Given the description of an element on the screen output the (x, y) to click on. 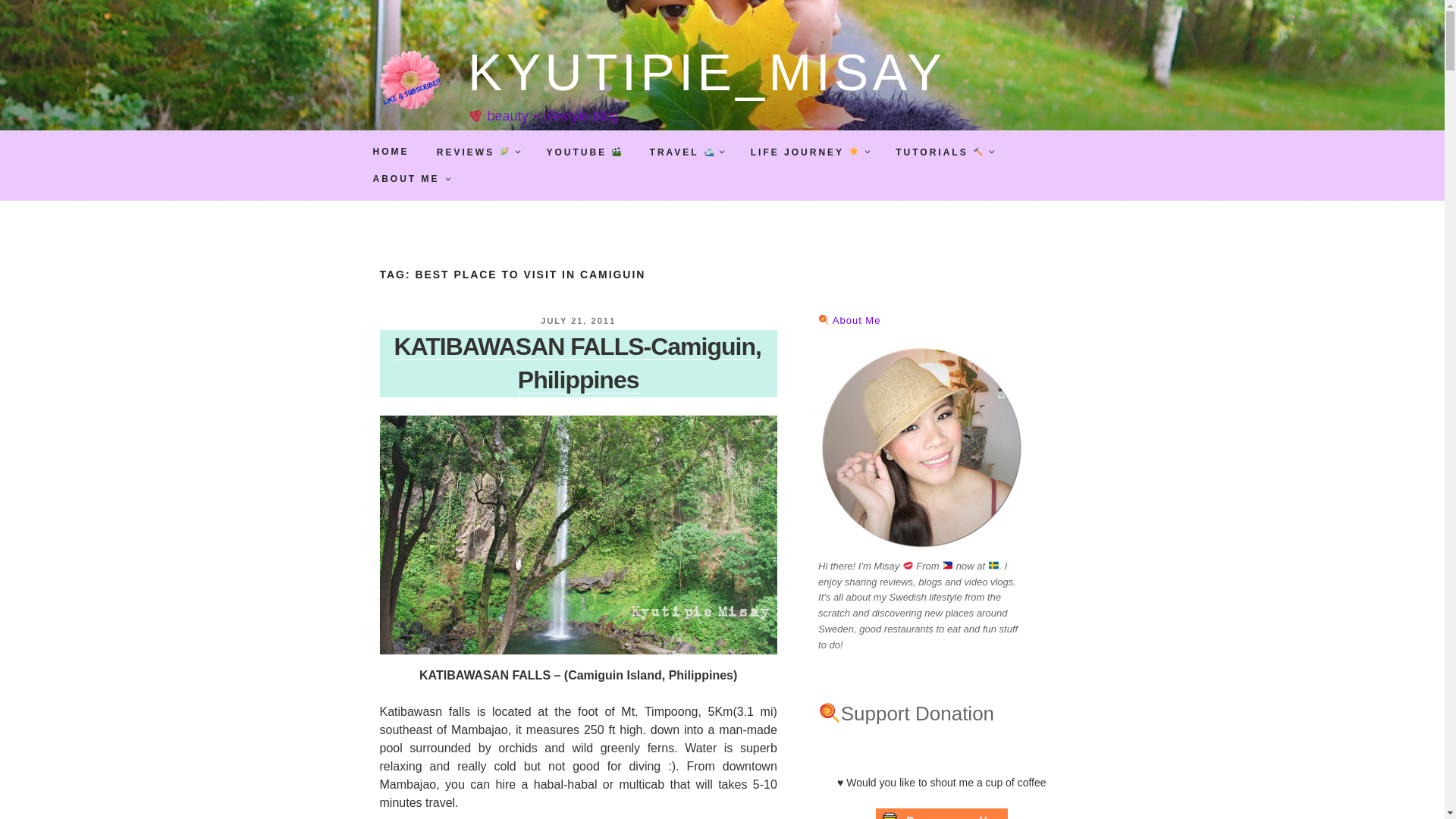
TUTORIALS (943, 152)
LIFE JOURNEY (809, 152)
KATIBAWASAN FALLS-Camiguin, Philippines (576, 362)
YOUTUBE (584, 151)
JULY 21, 2011 (577, 320)
HOME (390, 152)
TRAVEL (687, 152)
ABOUT ME (410, 179)
REVIEWS (477, 152)
